Given the description of an element on the screen output the (x, y) to click on. 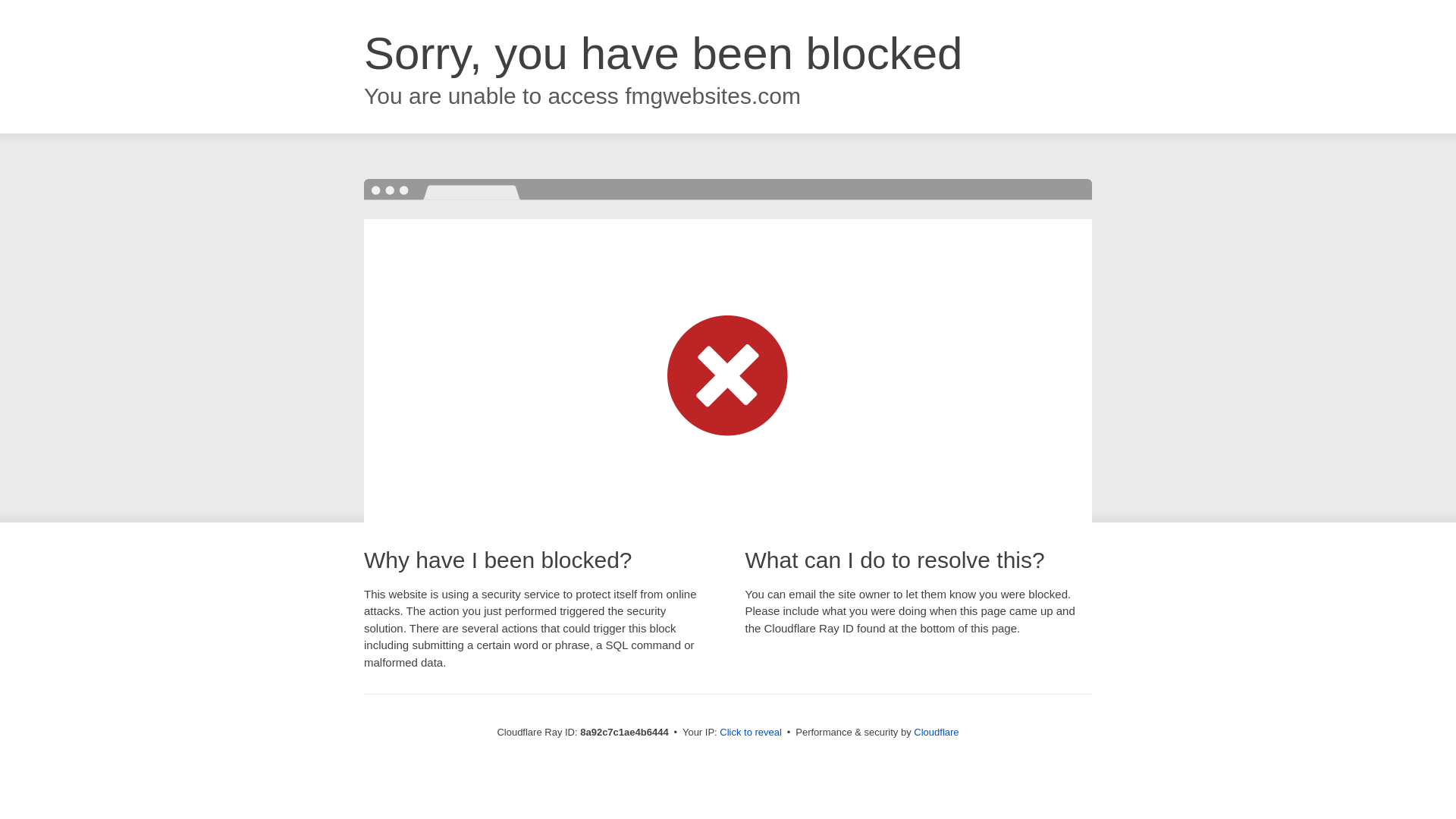
Cloudflare (936, 731)
Click to reveal (750, 732)
